Given the description of an element on the screen output the (x, y) to click on. 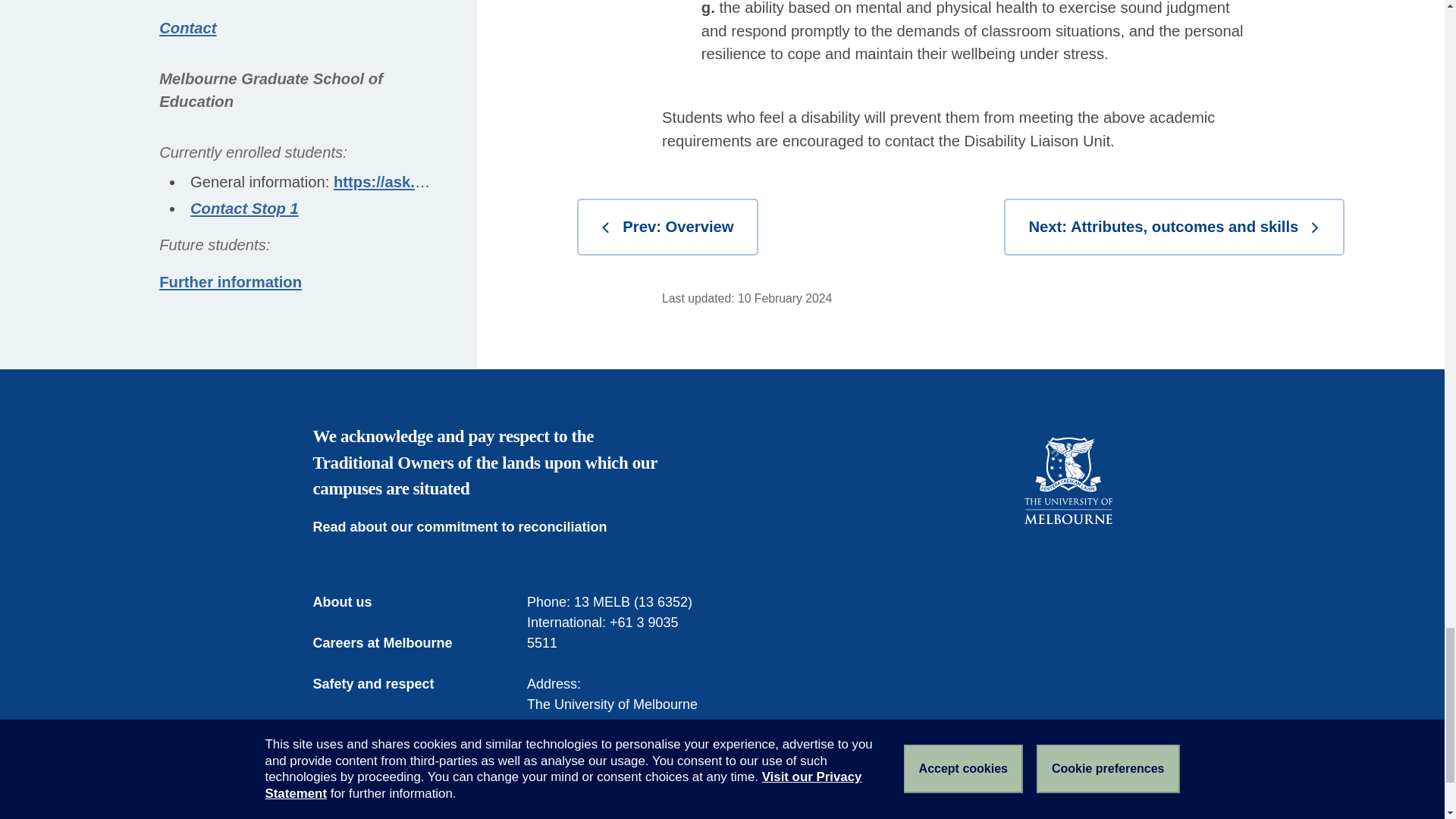
Contact (349, 765)
About us (353, 602)
View all Campus locations (615, 796)
Prev: Overview (667, 227)
Safety and respect (384, 684)
Read about our commitment to reconciliation (470, 526)
Newsroom (358, 724)
Next: Attributes, outcomes and skills (1173, 227)
Careers at Melbourne (393, 643)
